Given the description of an element on the screen output the (x, y) to click on. 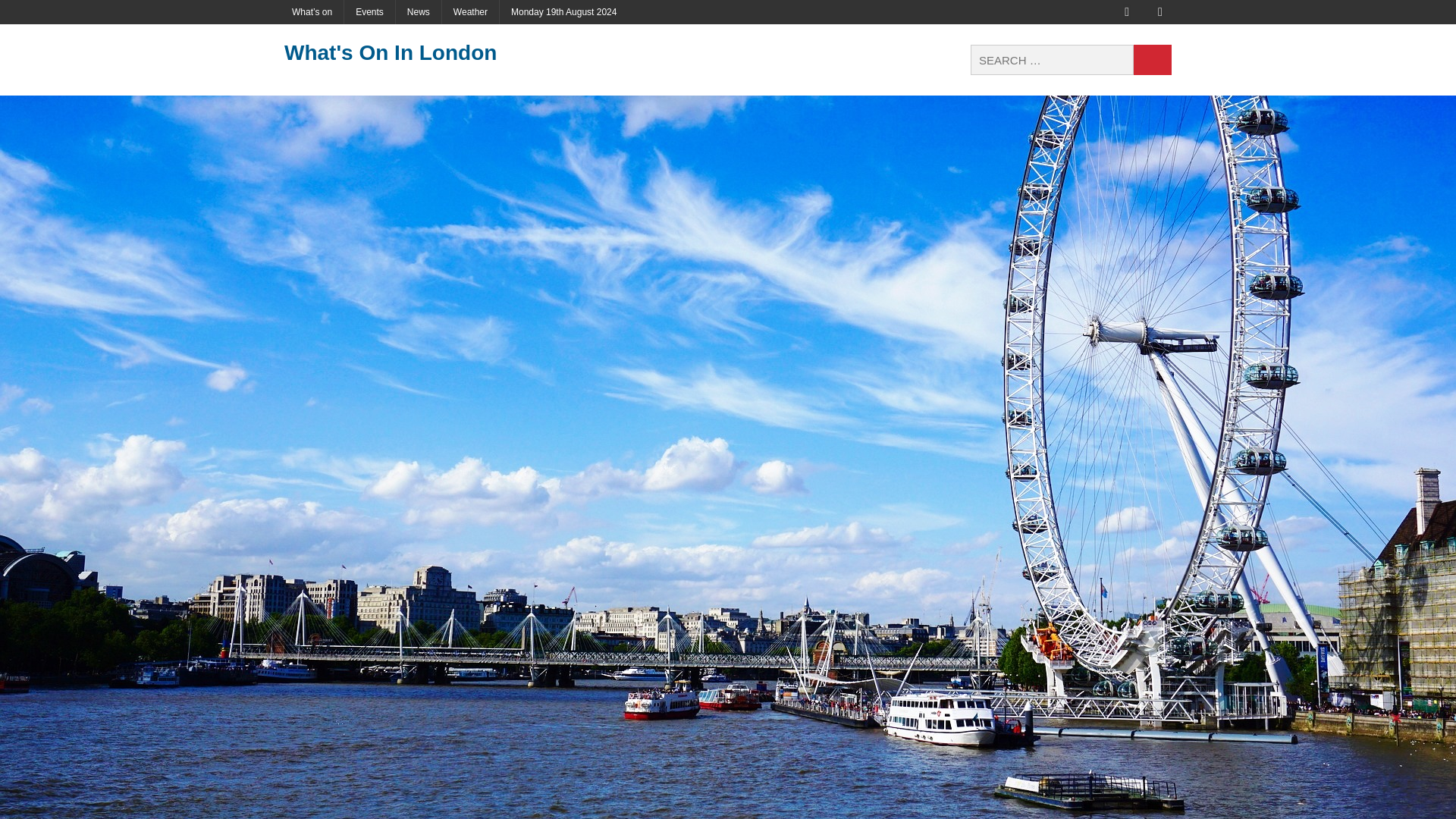
What'S On In London (423, 52)
What's On In London (423, 52)
Search (1153, 60)
Search (1153, 60)
Monday 19th August 2024 (563, 12)
Weather (470, 12)
News (418, 12)
Search (1153, 60)
Events (368, 12)
